Given the description of an element on the screen output the (x, y) to click on. 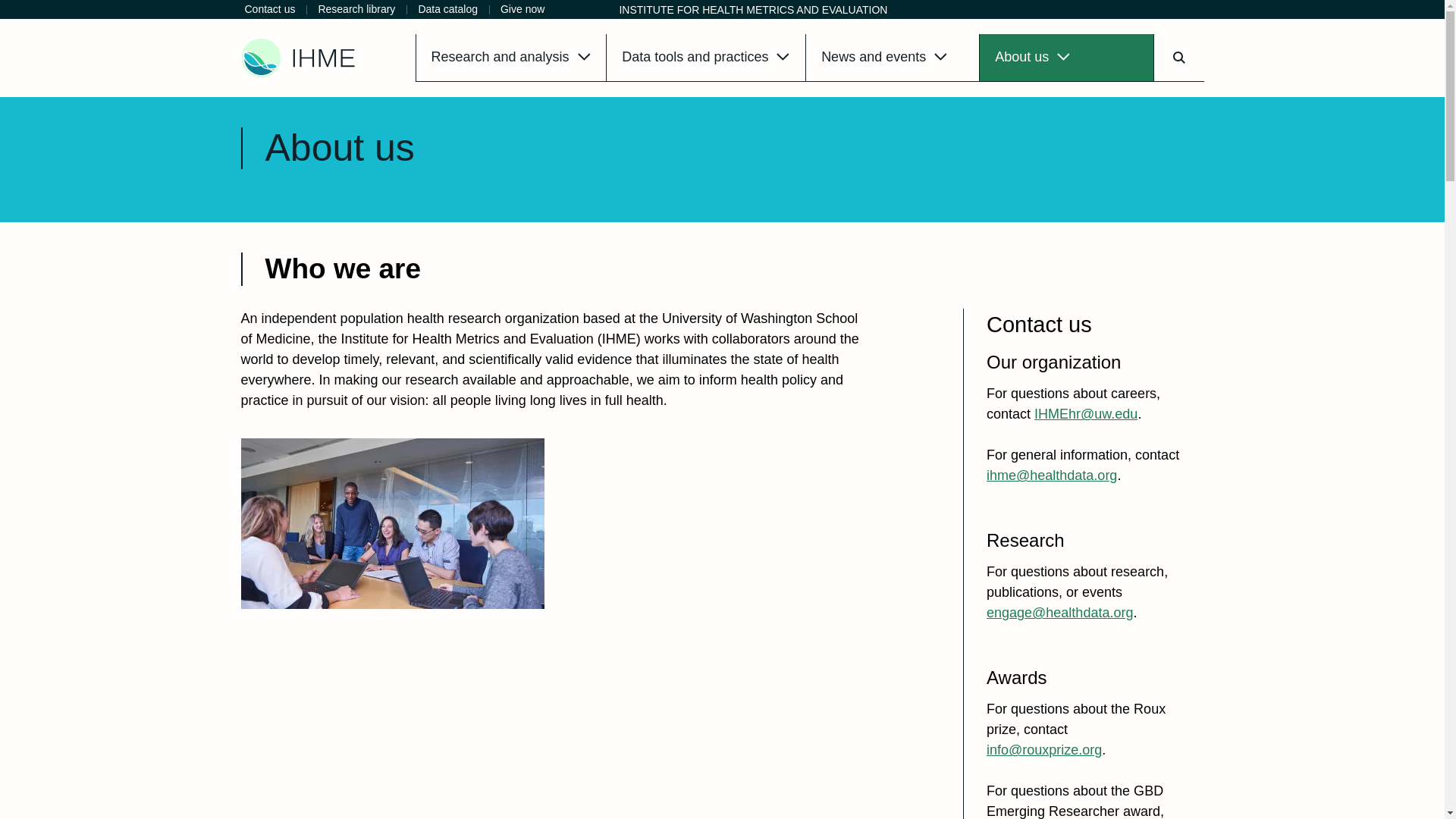
Research and analysis (510, 57)
See all of IHME's research library (356, 9)
Research library (356, 9)
Contact us (270, 9)
Give now (522, 9)
Data catalog (447, 9)
